Given the description of an element on the screen output the (x, y) to click on. 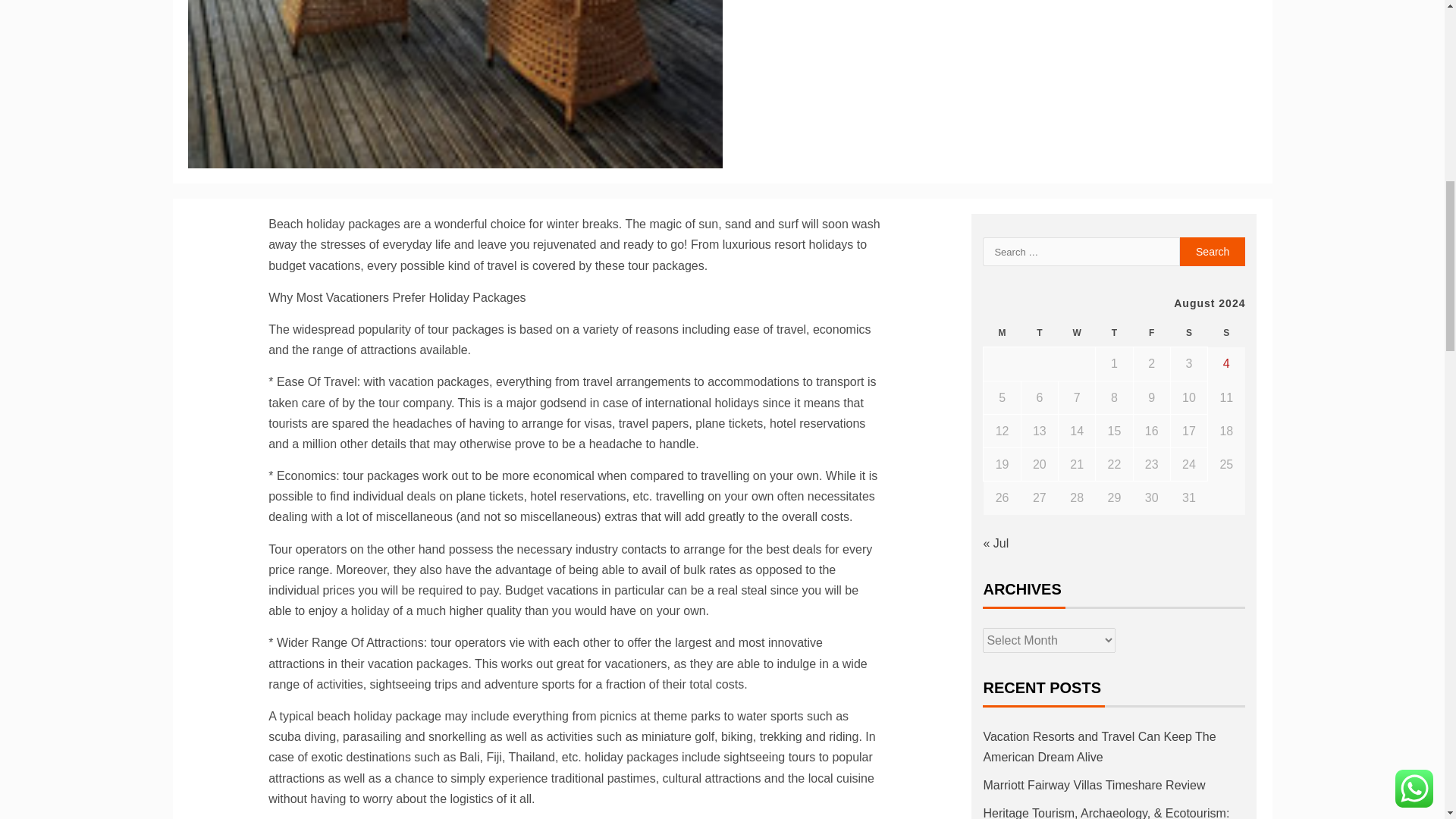
Beach Holiday Packages (454, 84)
Search (1212, 251)
Search (1212, 251)
